Given the description of an element on the screen output the (x, y) to click on. 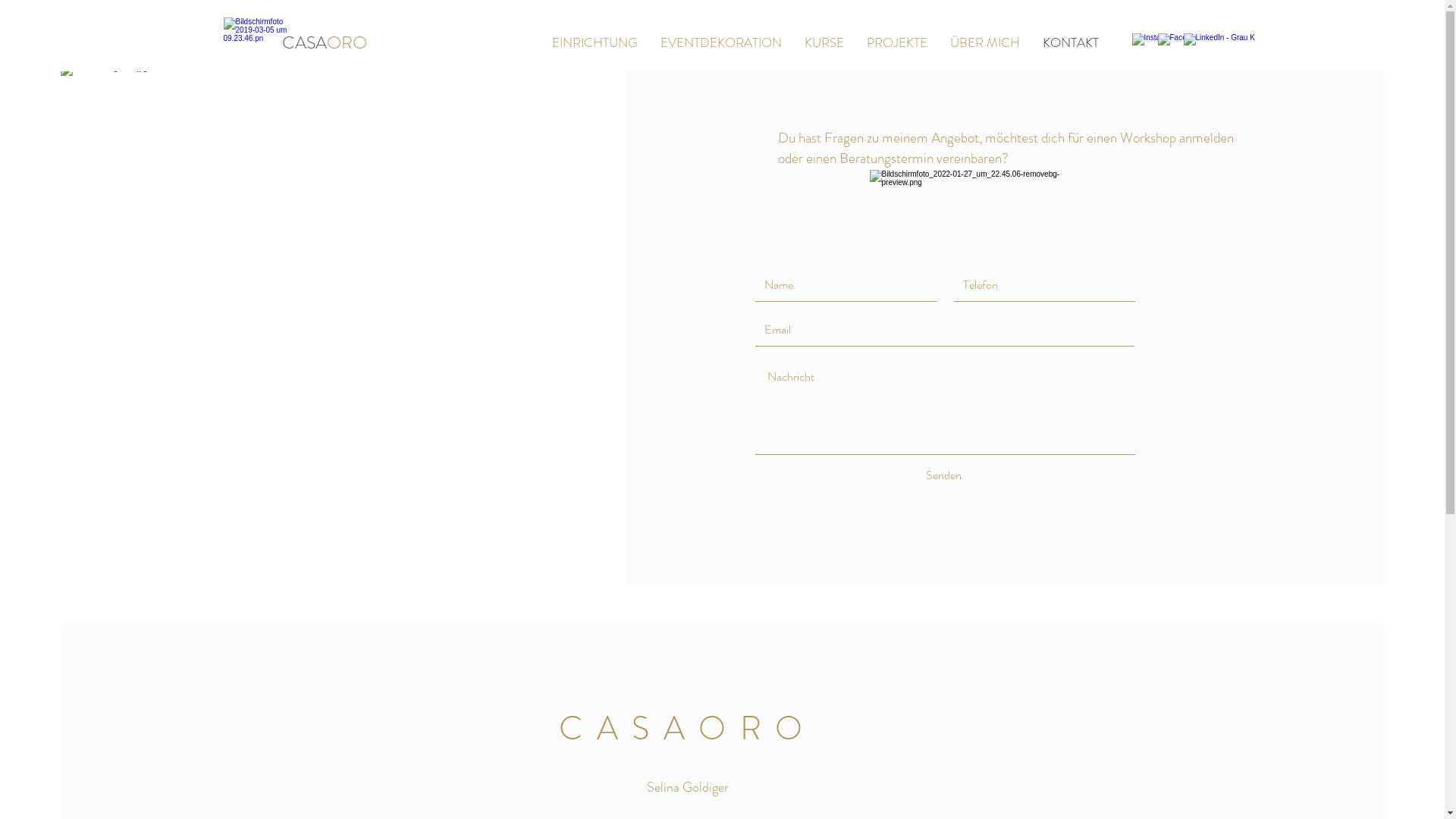
EINRICHTUNG Element type: text (593, 42)
CASAORO Element type: text (324, 42)
KONTAKT Element type: text (1070, 42)
Senden Element type: text (943, 475)
PROJEKTE Element type: text (896, 42)
KURSE Element type: text (824, 42)
EVENTDEKORATION Element type: text (721, 42)
